Given the description of an element on the screen output the (x, y) to click on. 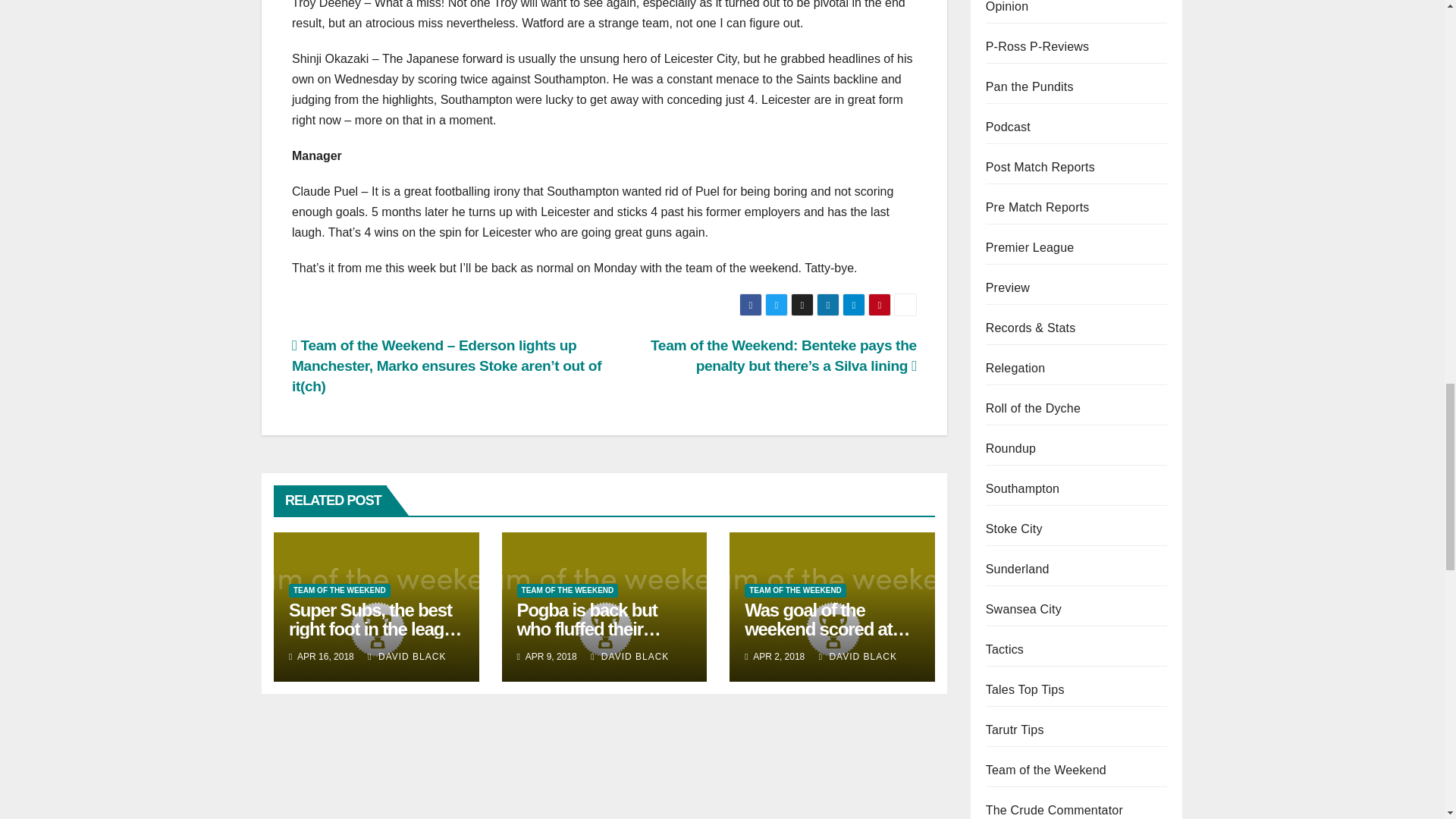
DAVID BLACK (629, 656)
TEAM OF THE WEEKEND (339, 590)
TEAM OF THE WEEKEND (794, 590)
DAVID BLACK (406, 656)
DAVID BLACK (857, 656)
TEAM OF THE WEEKEND (567, 590)
